Given the description of an element on the screen output the (x, y) to click on. 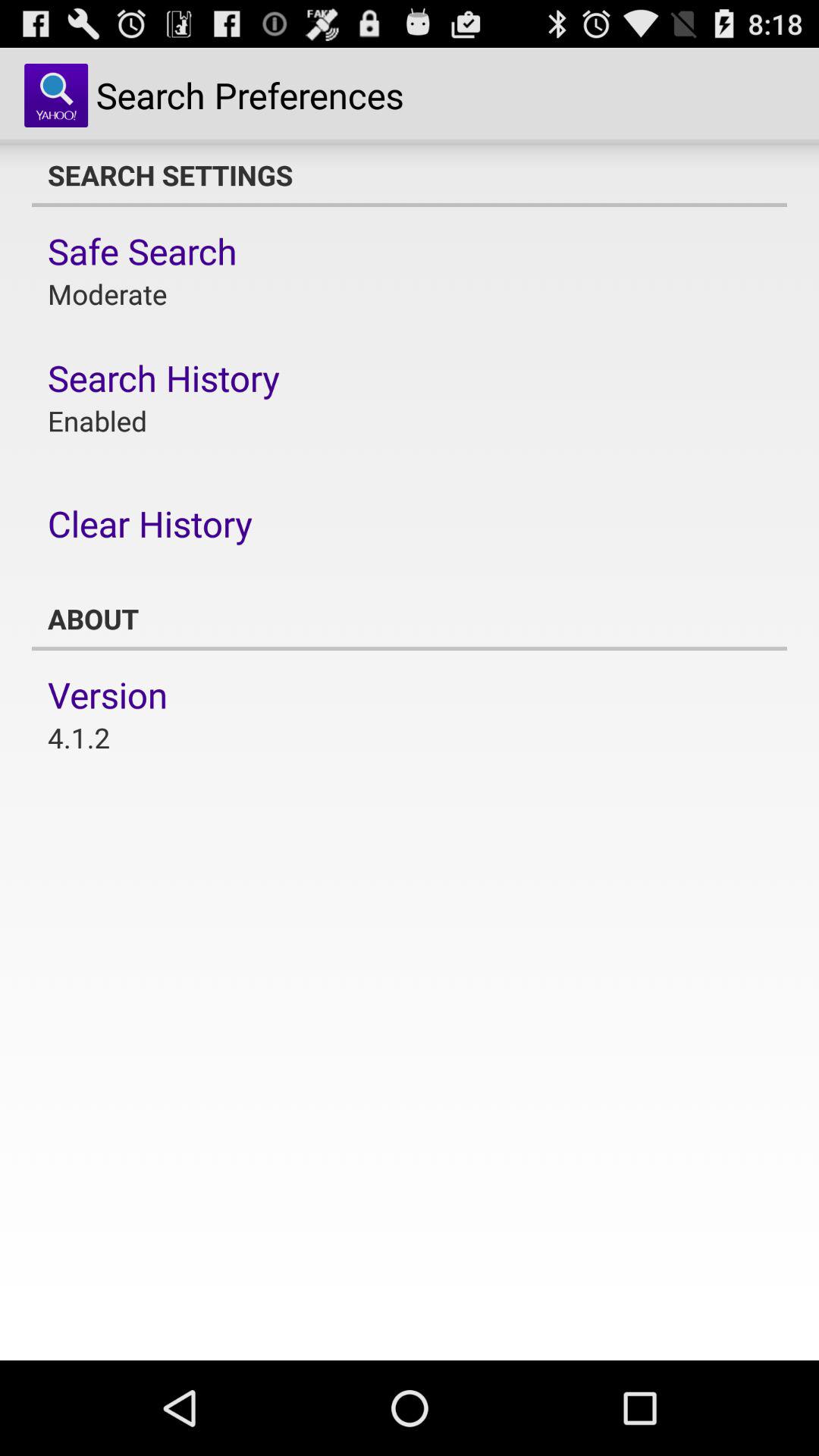
turn on clear history app (149, 523)
